Given the description of an element on the screen output the (x, y) to click on. 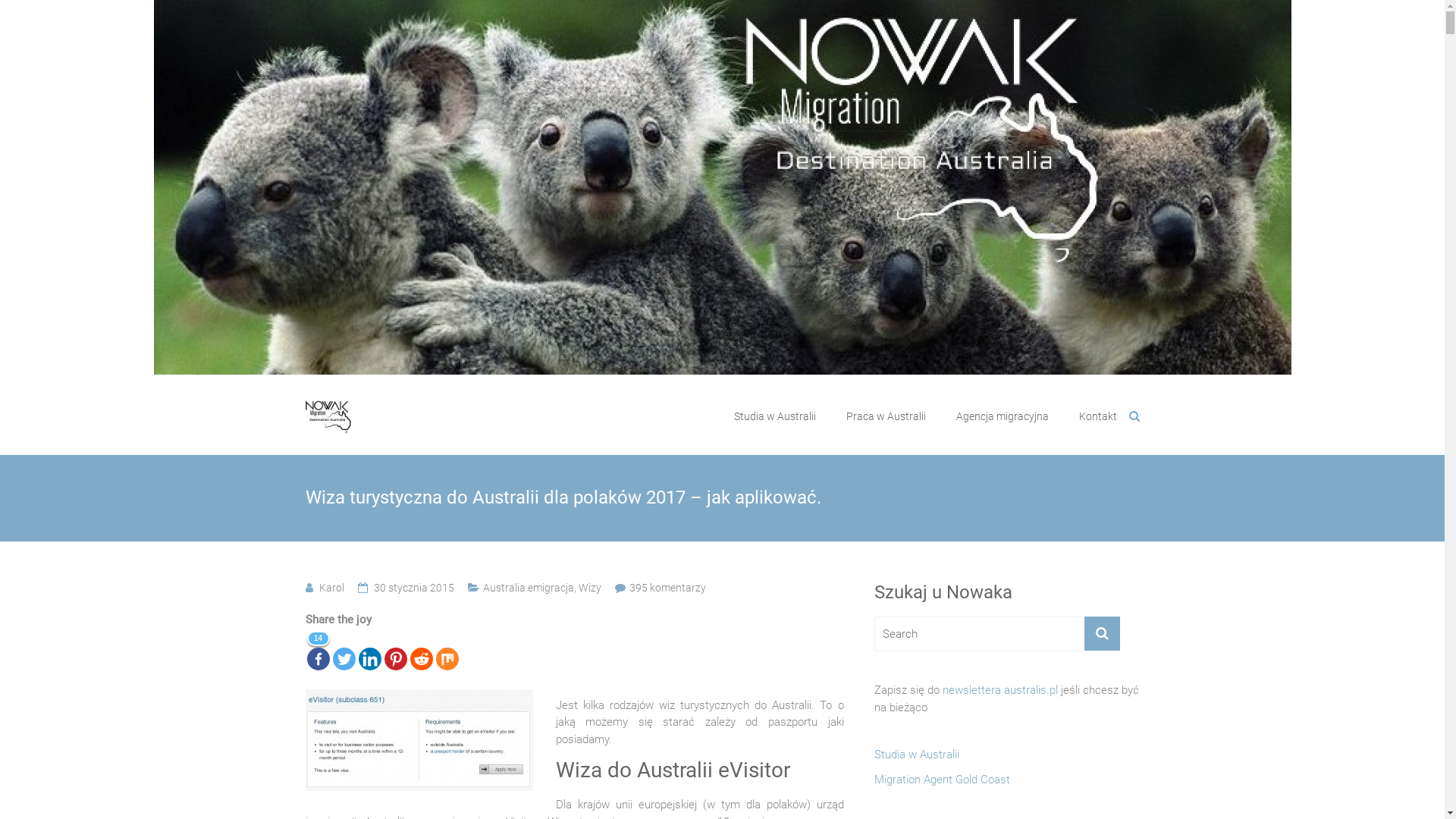
Migration Agent Gold Coast Element type: text (941, 783)
Australia emigracja Element type: text (527, 587)
Twitter Element type: hover (343, 649)
Pinterest Element type: hover (394, 649)
14 Element type: text (317, 649)
Reddit Element type: hover (420, 649)
Agencja migracyjna Element type: text (1001, 415)
Kontakt Element type: text (1097, 415)
30 stycznia 2015 Element type: text (413, 587)
395 komentarzy Element type: text (667, 587)
Studia w Australii Element type: text (774, 415)
newslettera australis.pl Element type: text (999, 689)
Studia w Australii Element type: text (915, 758)
Wizy Element type: text (588, 587)
Linkedin Element type: hover (368, 649)
Mix Element type: hover (446, 649)
Praca w Australii Element type: text (885, 415)
Karol Element type: text (330, 587)
